Given the description of an element on the screen output the (x, y) to click on. 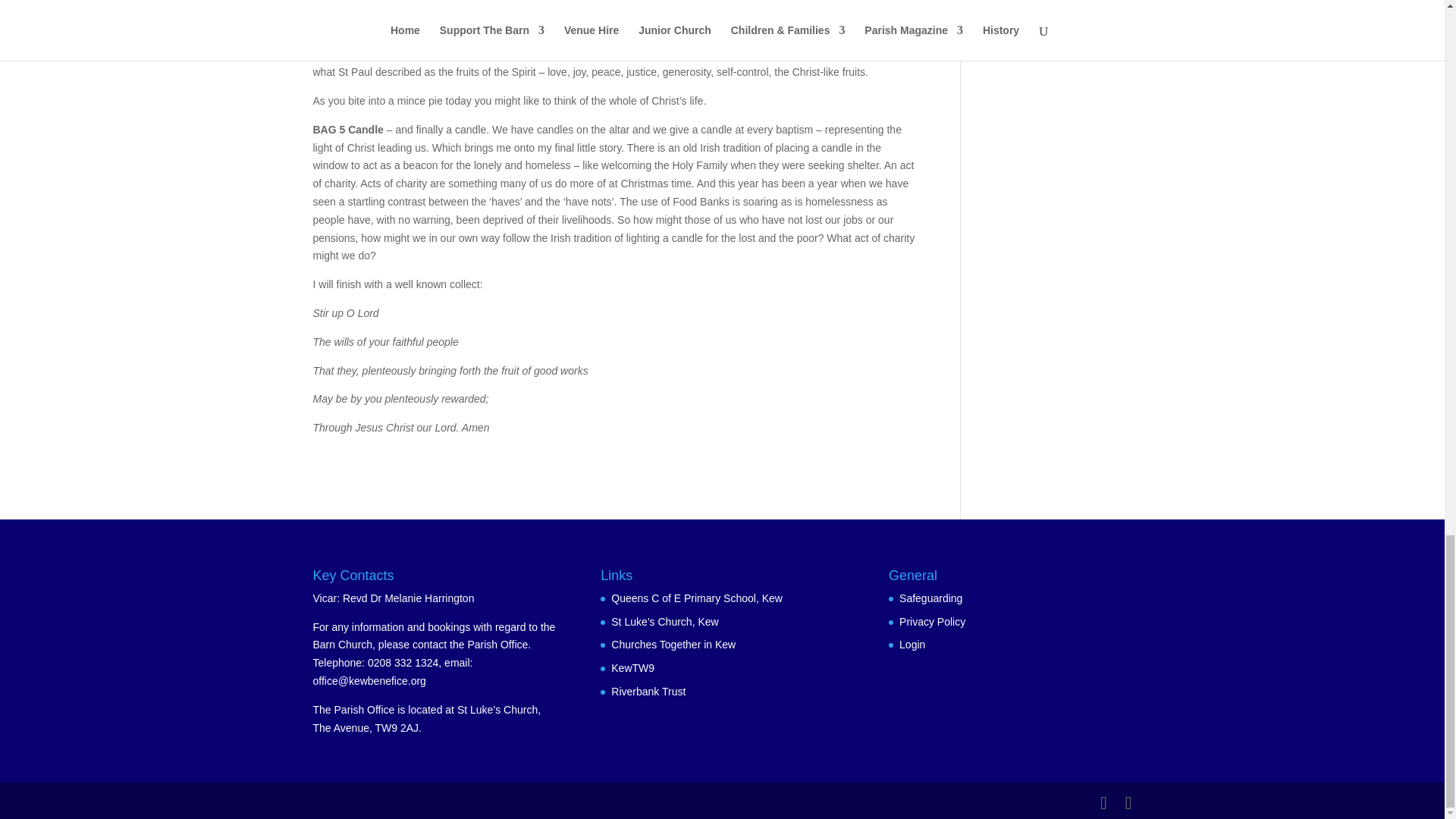
Privacy Policy (932, 621)
Login (911, 644)
Safeguarding (930, 598)
Queens C of E Primary School, Kew (697, 598)
Riverbank Trust (648, 691)
Churches Together in Kew (673, 644)
KewTW9 (632, 667)
